Given the description of an element on the screen output the (x, y) to click on. 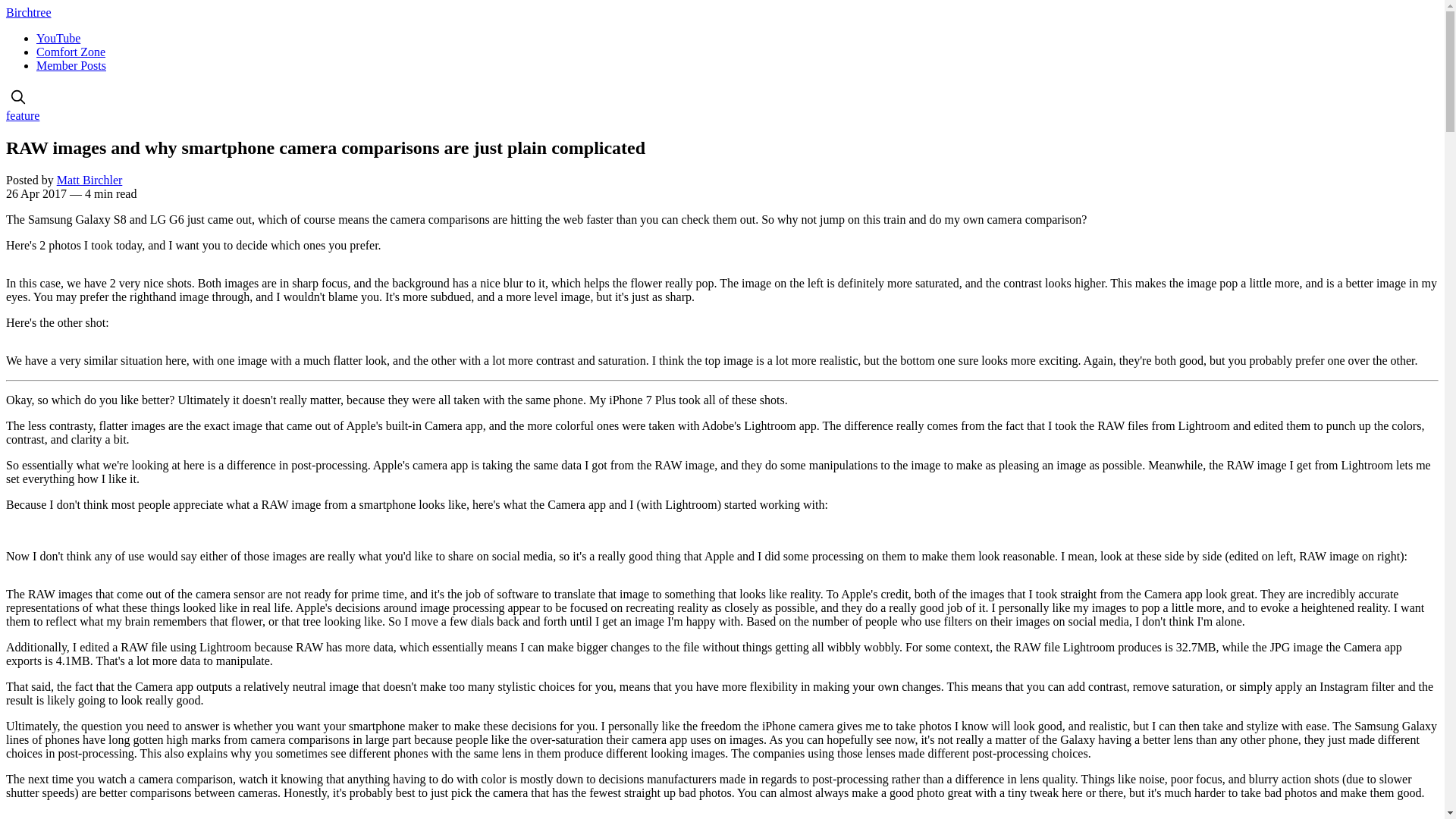
Birchtree (27, 11)
feature (22, 115)
Member Posts (71, 65)
Matt Birchler (89, 179)
YouTube (58, 38)
Comfort Zone (70, 51)
